Given the description of an element on the screen output the (x, y) to click on. 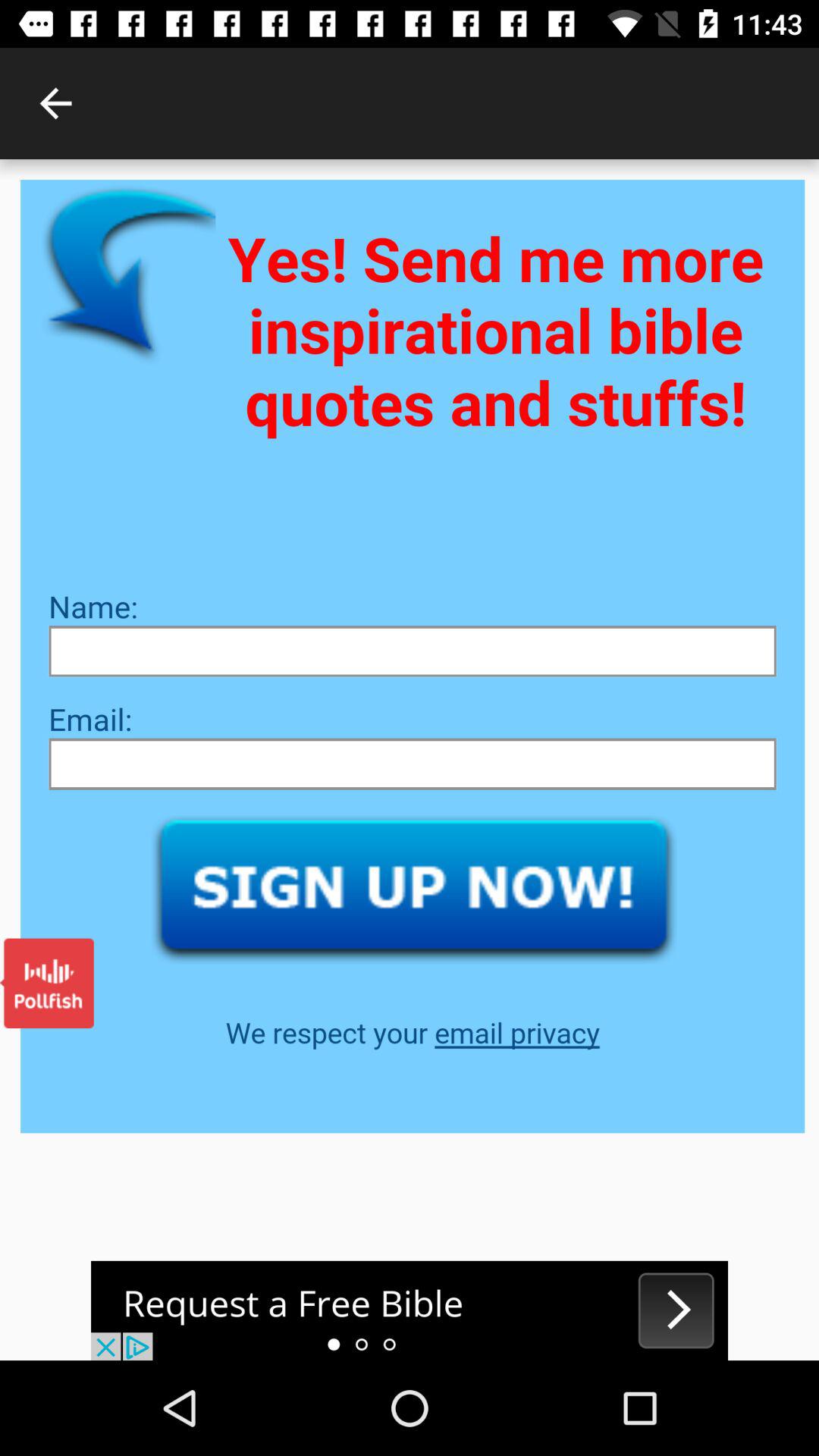
first step to ask for a free bible (409, 1310)
